Given the description of an element on the screen output the (x, y) to click on. 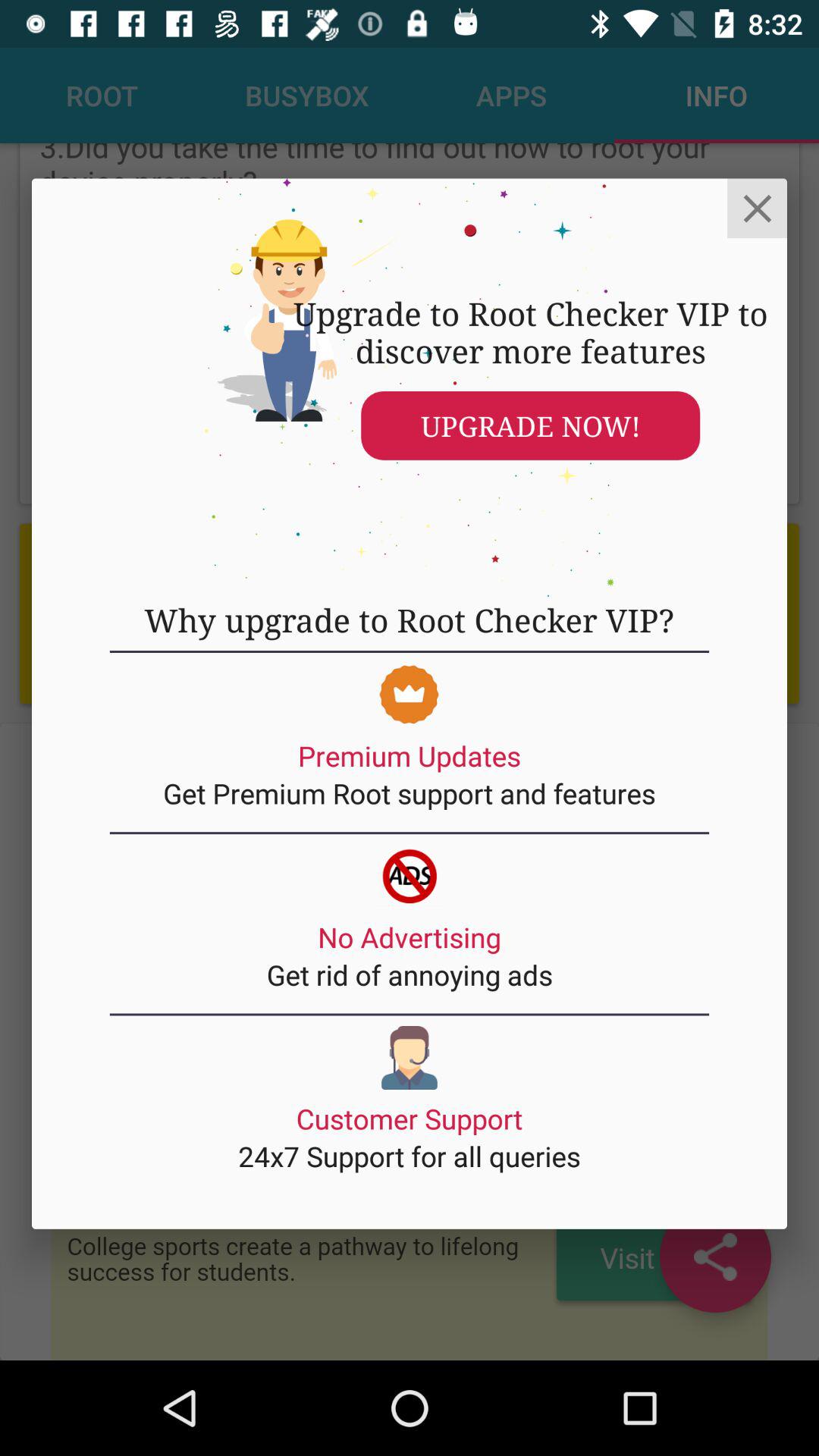
choose icon at the top right corner (757, 208)
